Given the description of an element on the screen output the (x, y) to click on. 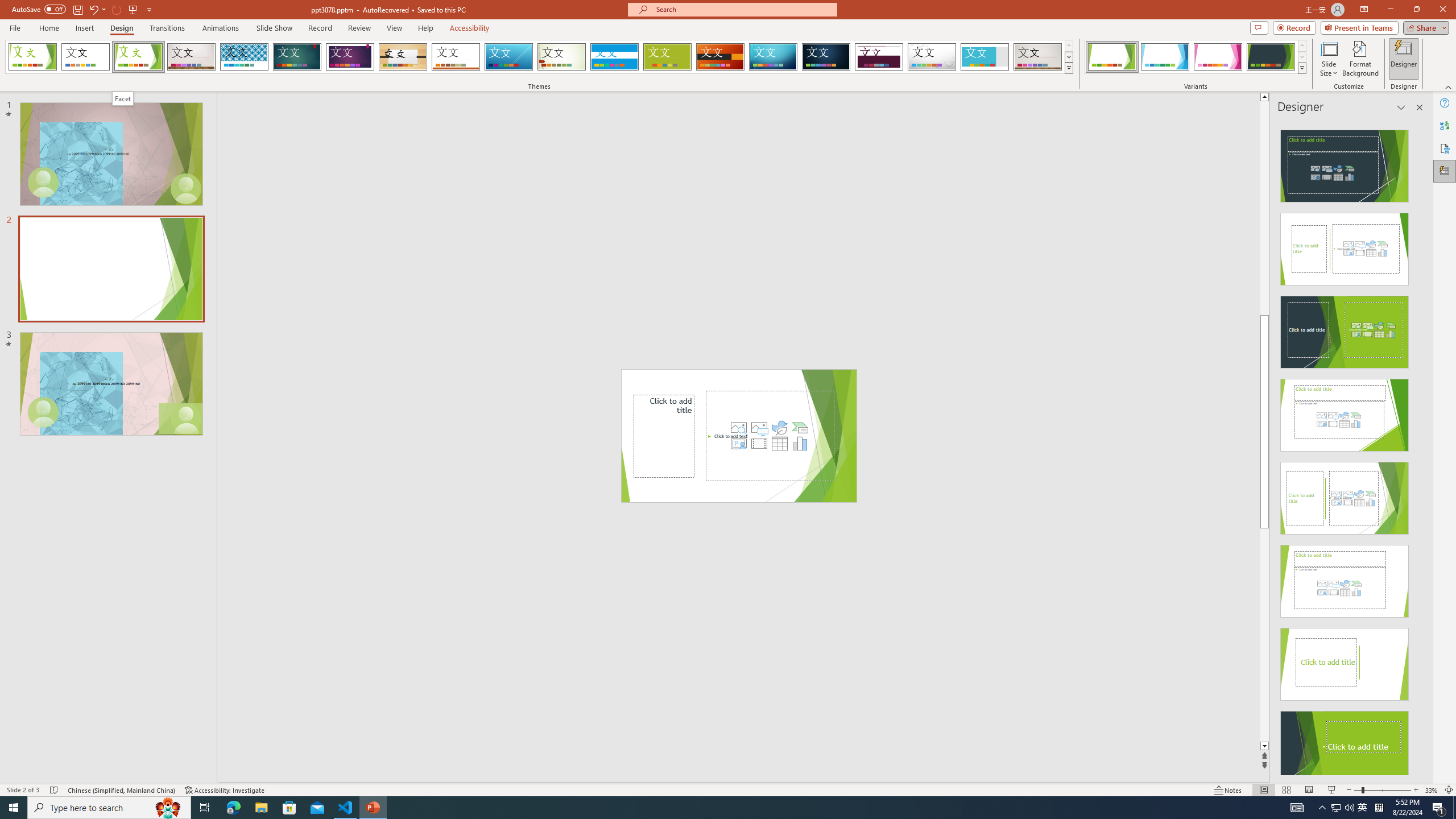
Ion (296, 56)
AutomationID: ThemeVariantsGallery (1195, 56)
Zoom 33% (1431, 790)
Integral (244, 56)
